Given the description of an element on the screen output the (x, y) to click on. 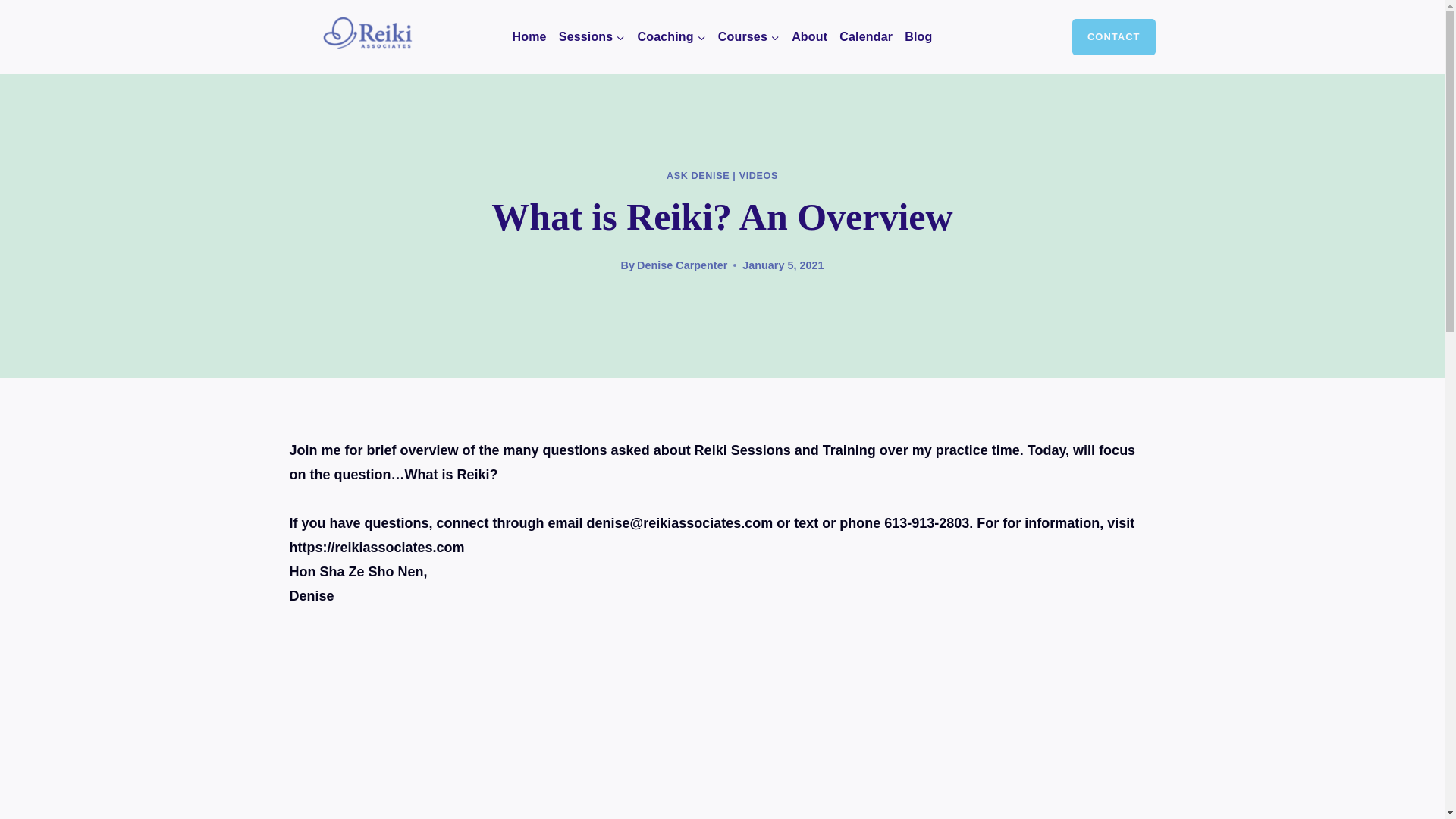
Home (528, 36)
VIDEOS (758, 175)
ASK DENISE (697, 175)
CONTACT (1113, 37)
About (809, 36)
What is Reiki? (562, 725)
Denise Carpenter (681, 265)
Calendar (865, 36)
Courses (748, 36)
Sessions (592, 36)
Coaching (670, 36)
Blog (917, 36)
